Given the description of an element on the screen output the (x, y) to click on. 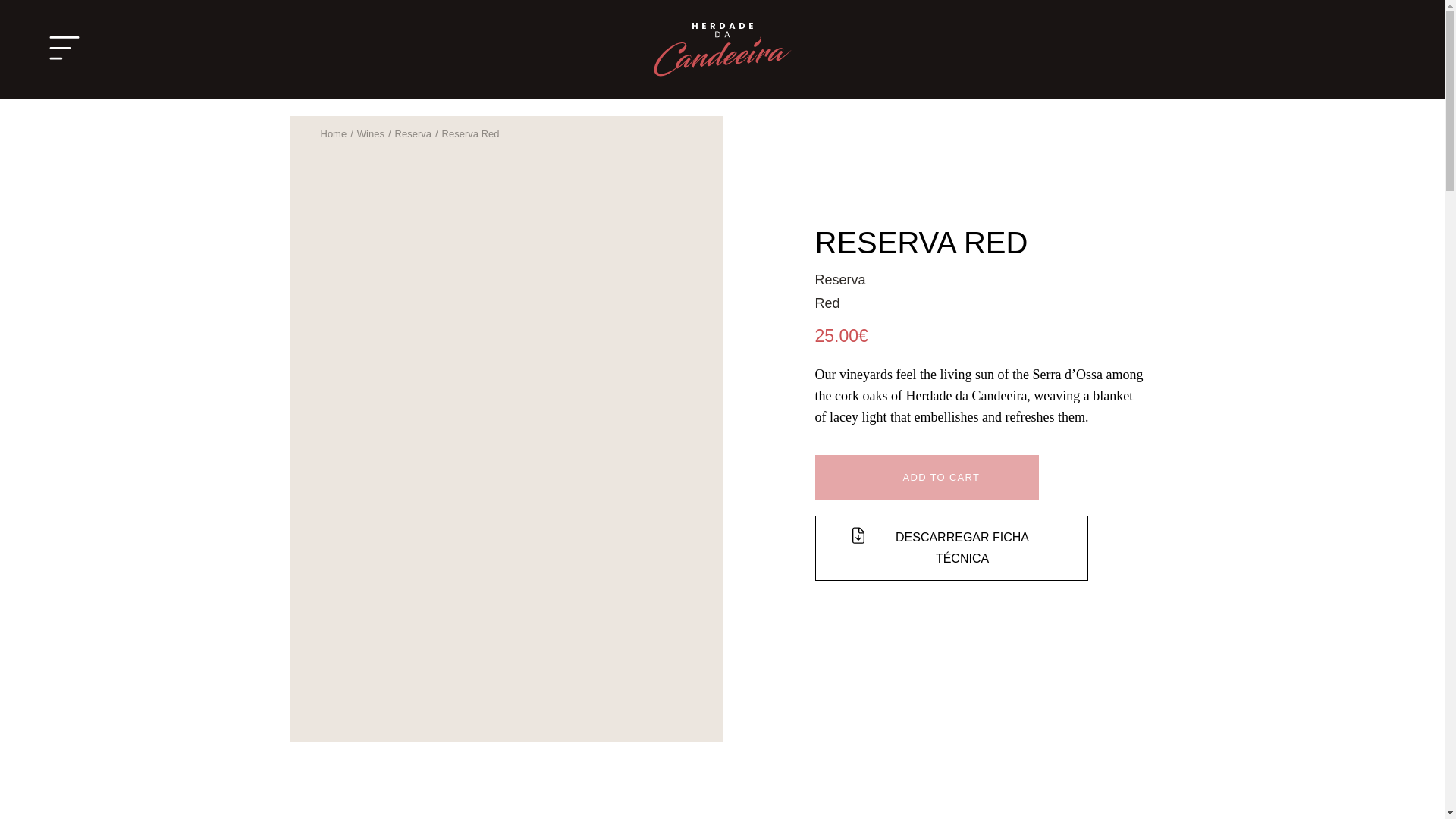
Reserva (838, 279)
ADD TO CART (925, 477)
Home (333, 133)
Wines (370, 133)
Reserva (412, 133)
Red (826, 303)
